Given the description of an element on the screen output the (x, y) to click on. 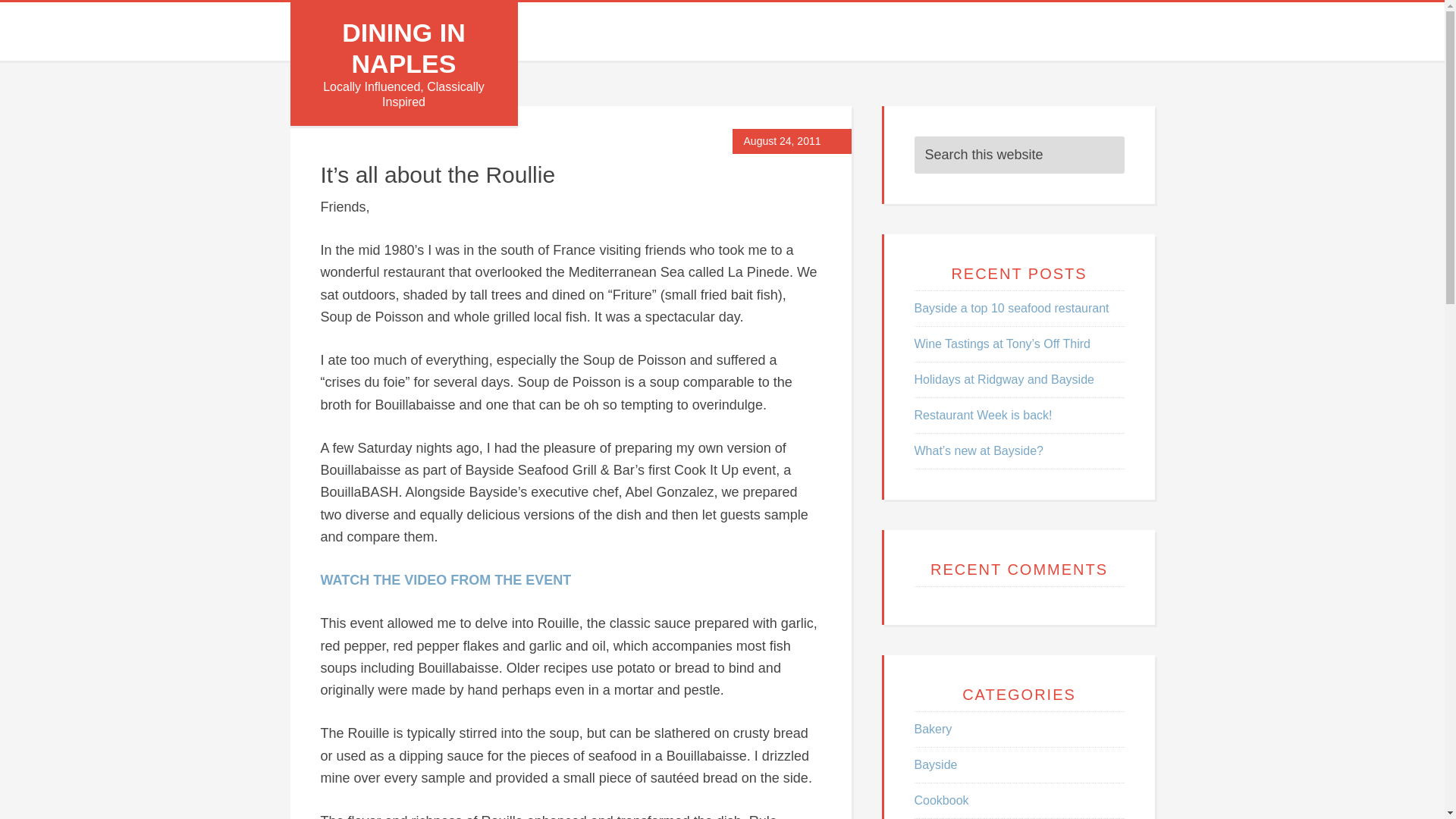
Restaurant Week is back! (983, 414)
DINING IN NAPLES (403, 47)
Holidays at Ridgway and Bayside (1004, 379)
Bakery (933, 728)
WATCH THE VIDEO FROM THE EVENT (445, 580)
Bayside a top 10 seafood restaurant (1011, 308)
Cookbook (941, 799)
Bayside (936, 764)
